Given the description of an element on the screen output the (x, y) to click on. 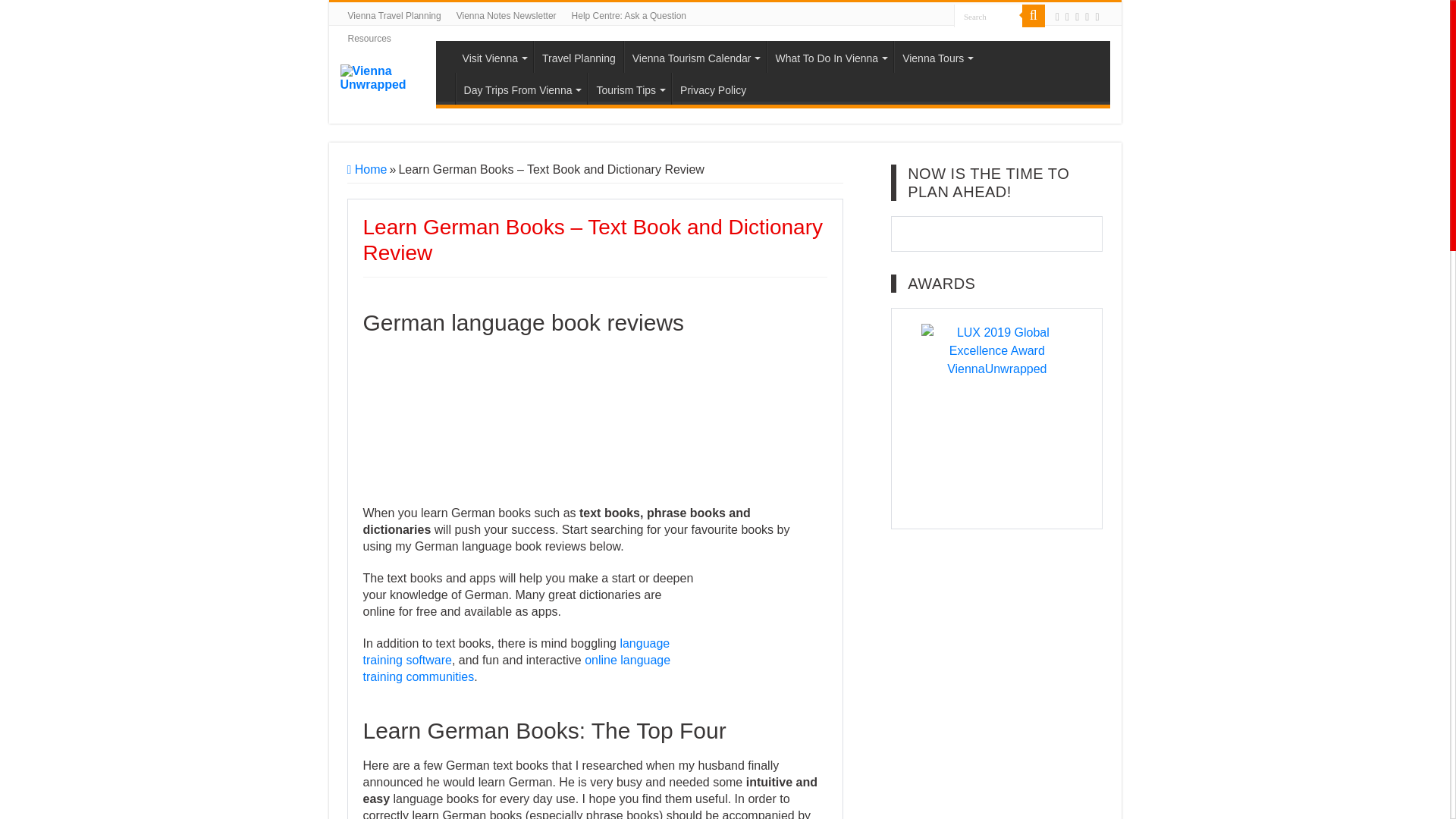
Search (987, 15)
Vienna Tourism Calendar (695, 56)
Resources (368, 38)
Search (987, 15)
Rss (1057, 16)
Twitter (1077, 16)
Facebook (1067, 16)
Visit Vienna (493, 56)
LinkedIn (1096, 16)
Vienna Unwrapped (387, 76)
Pinterest (1086, 16)
Travel Planning (578, 56)
Help Centre: Ask a Question (629, 15)
Search (987, 15)
Vienna Notes Newsletter (506, 15)
